Given the description of an element on the screen output the (x, y) to click on. 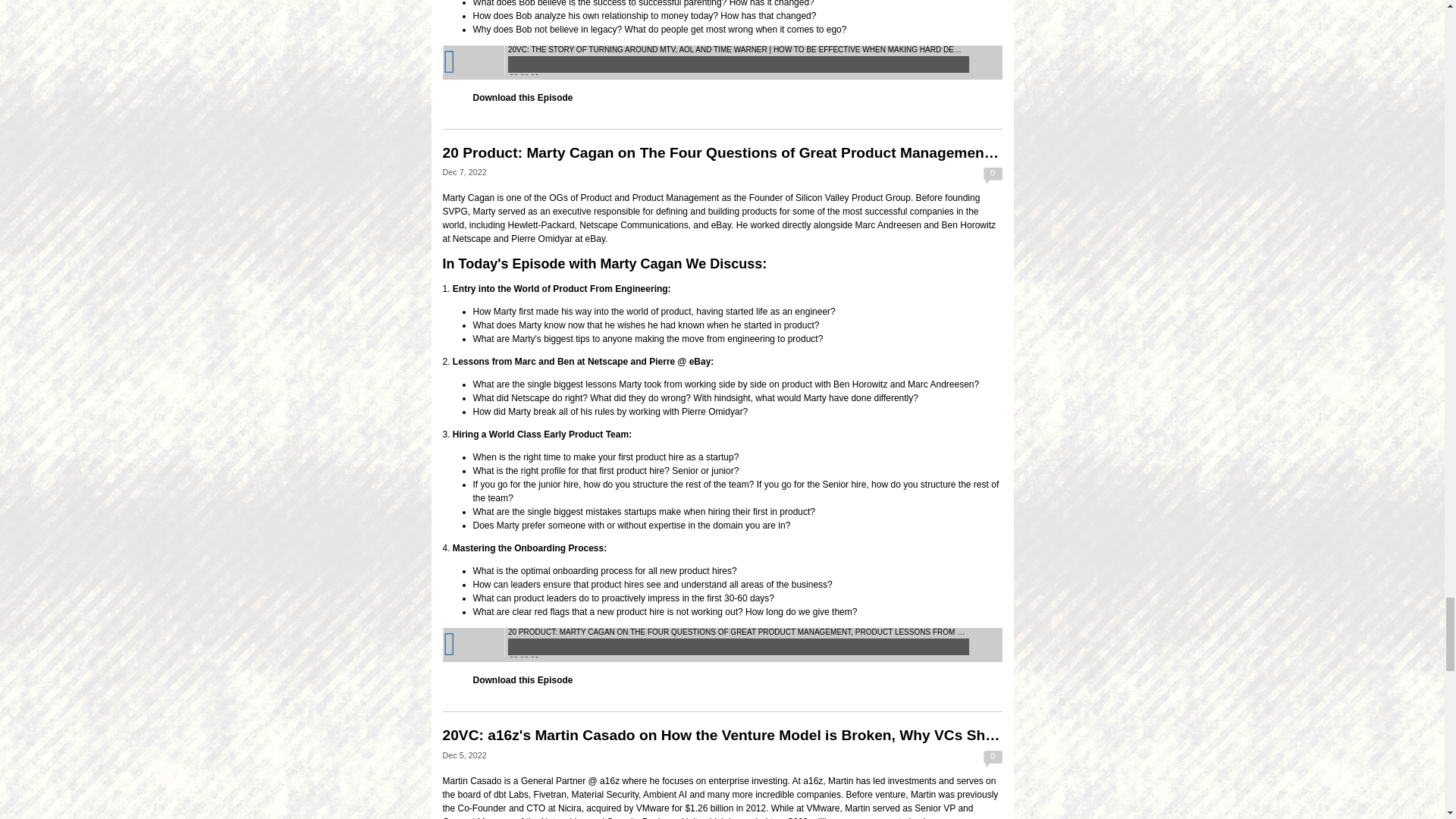
Libsyn Player (722, 644)
Libsyn Player (722, 62)
